Given the description of an element on the screen output the (x, y) to click on. 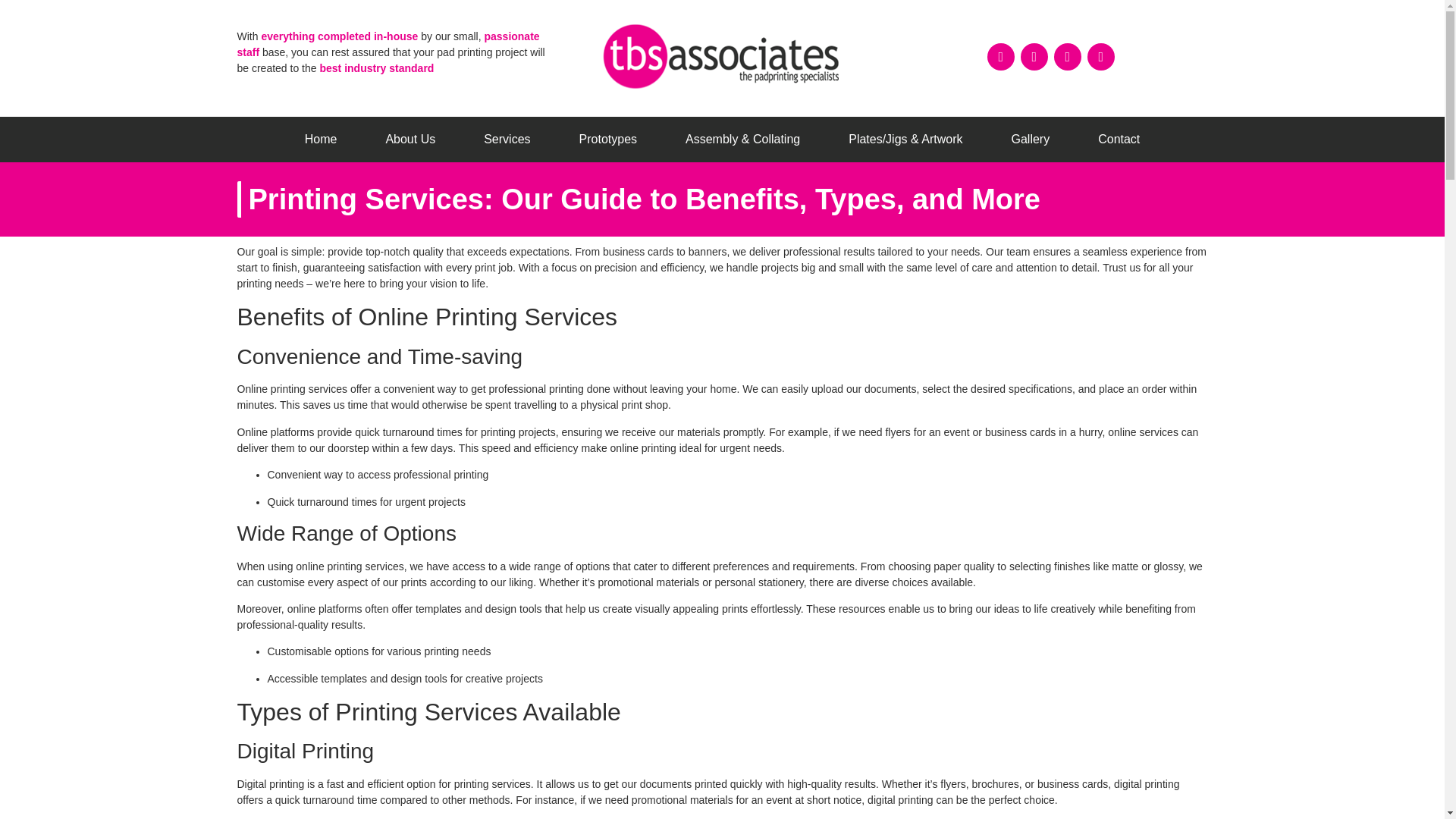
About Us (410, 139)
Contact (1118, 139)
Home (321, 139)
Gallery (1030, 139)
Prototypes (607, 139)
Services (507, 139)
